Given the description of an element on the screen output the (x, y) to click on. 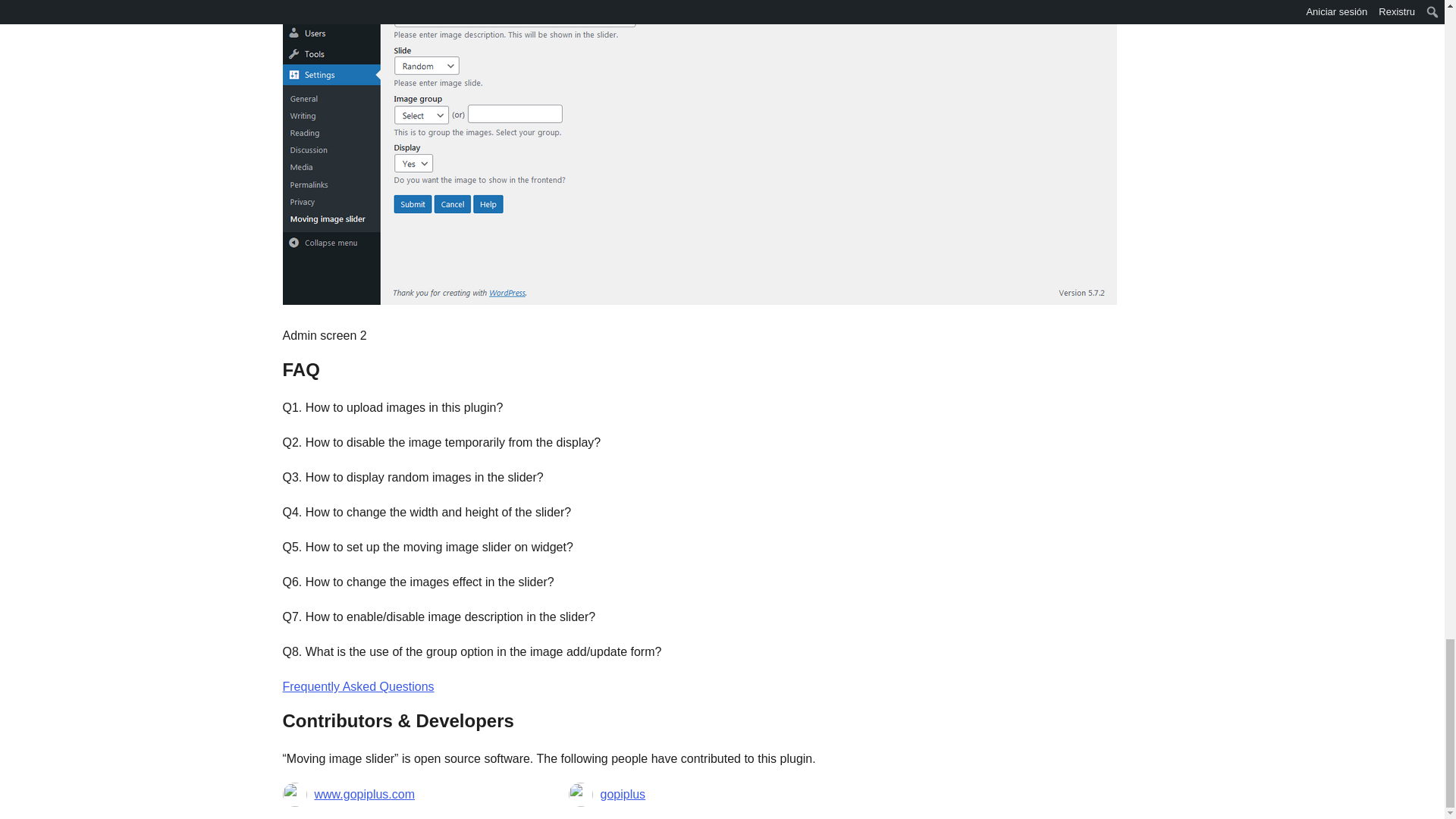
Frequently Asked Questions (357, 686)
Frequently Asked Questions (357, 686)
